Given the description of an element on the screen output the (x, y) to click on. 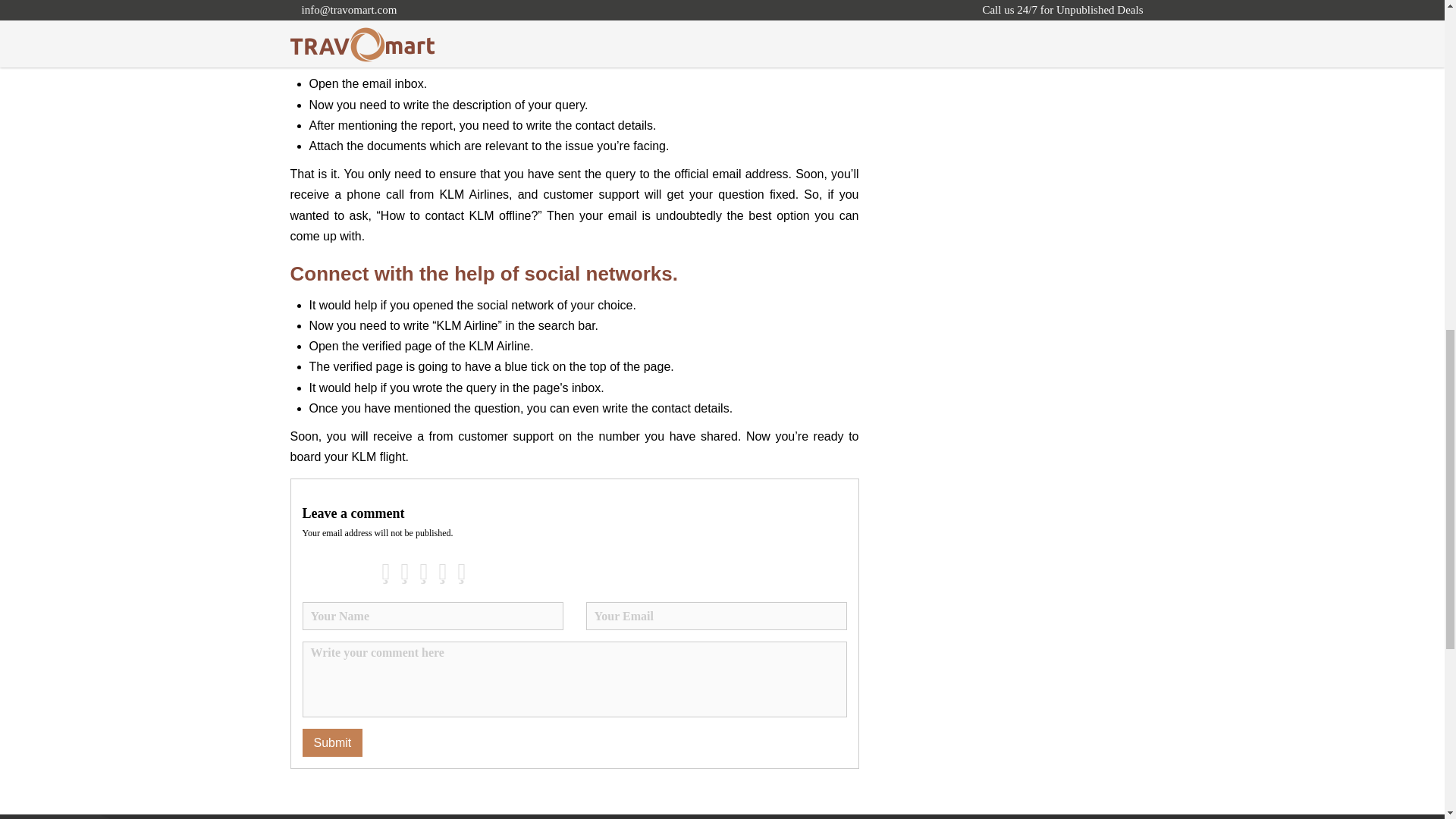
Invalid email address (715, 615)
Submit (331, 742)
